Given the description of an element on the screen output the (x, y) to click on. 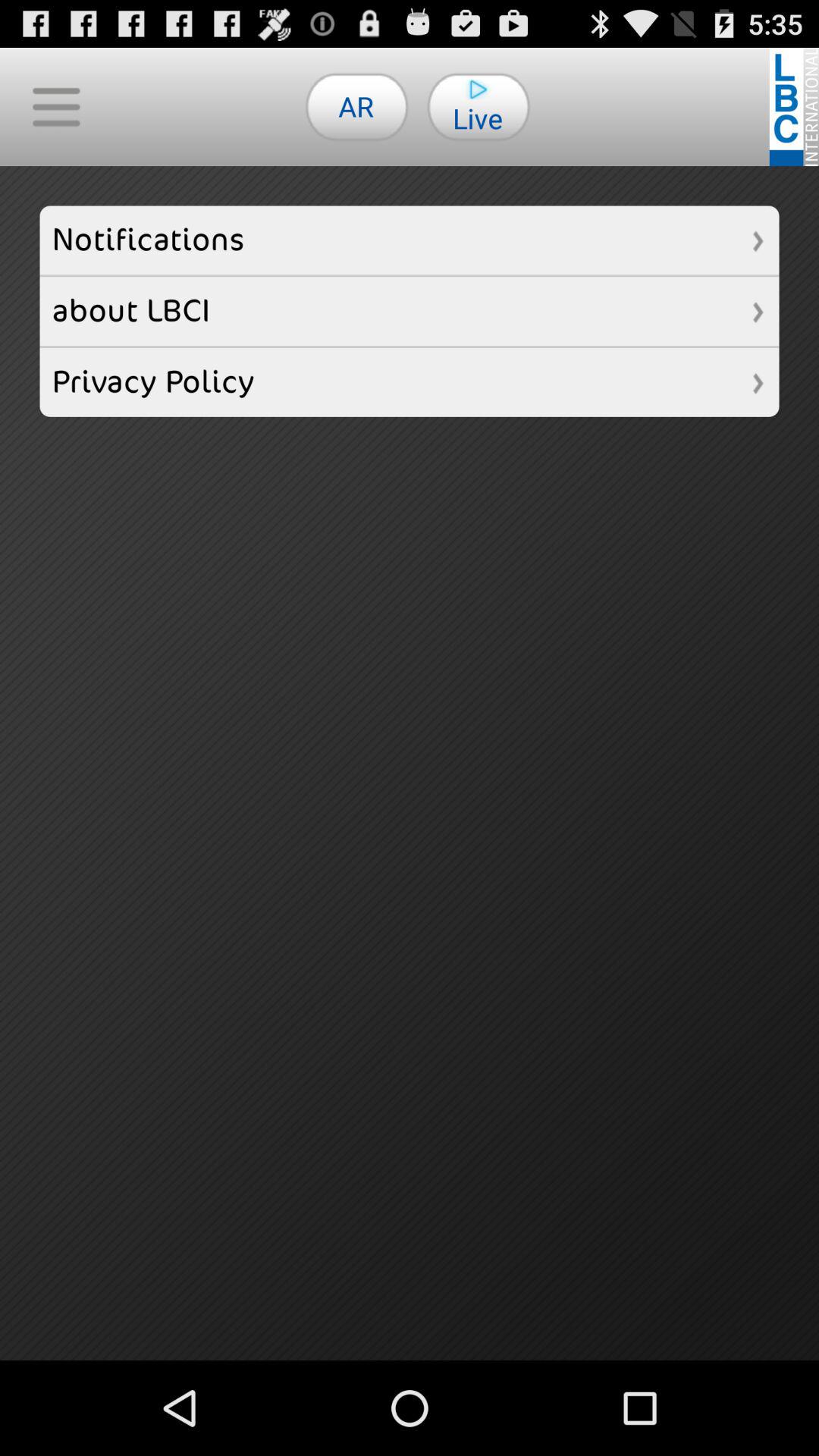
tap notifications item (409, 239)
